Given the description of an element on the screen output the (x, y) to click on. 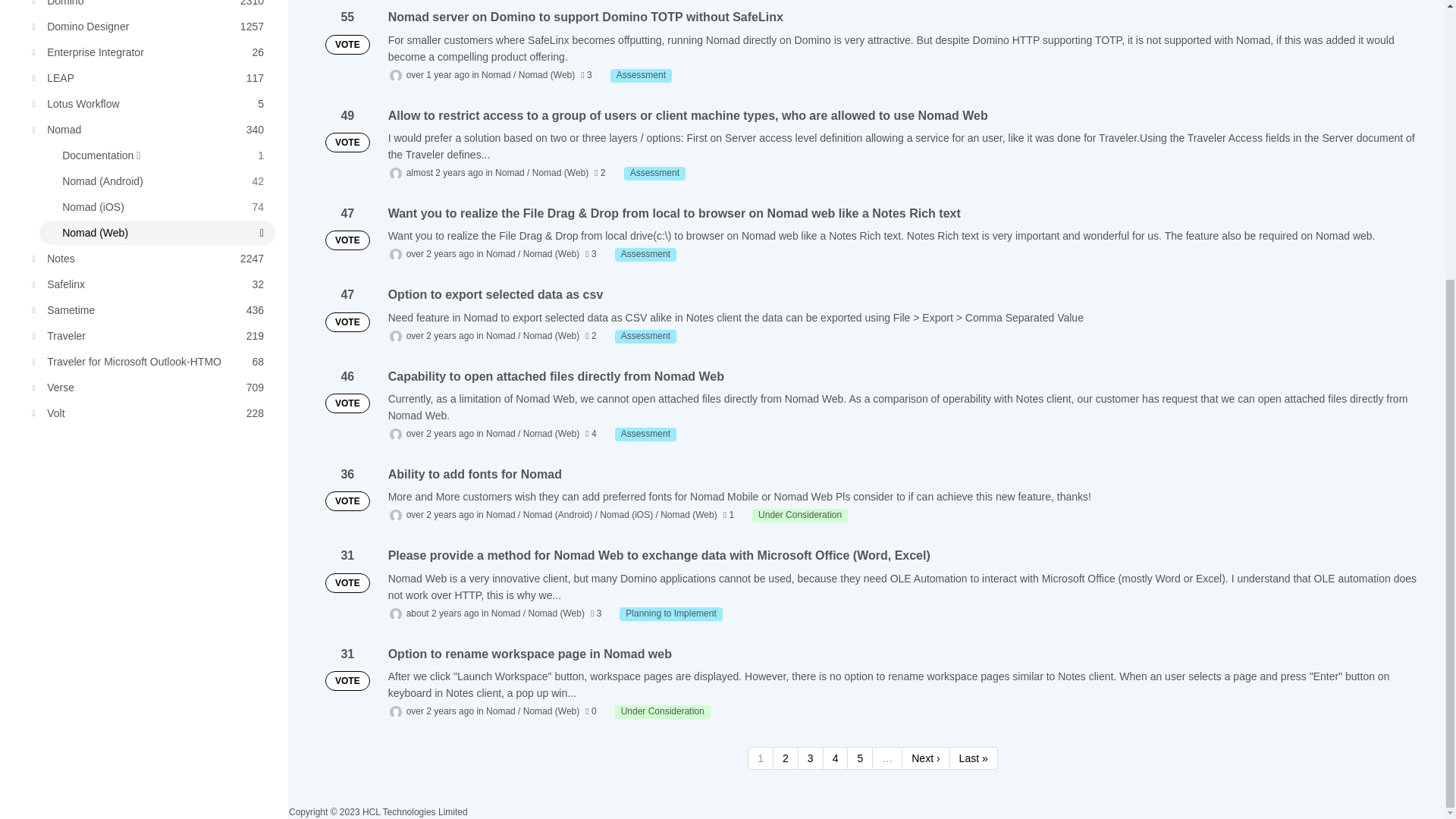
Under Consideration (150, 129)
Assessment (150, 52)
Assessment (799, 515)
Assessment (645, 254)
Planning to Implement (150, 103)
Under Consideration (654, 173)
Assessment (640, 75)
Assessment (150, 78)
